Given the description of an element on the screen output the (x, y) to click on. 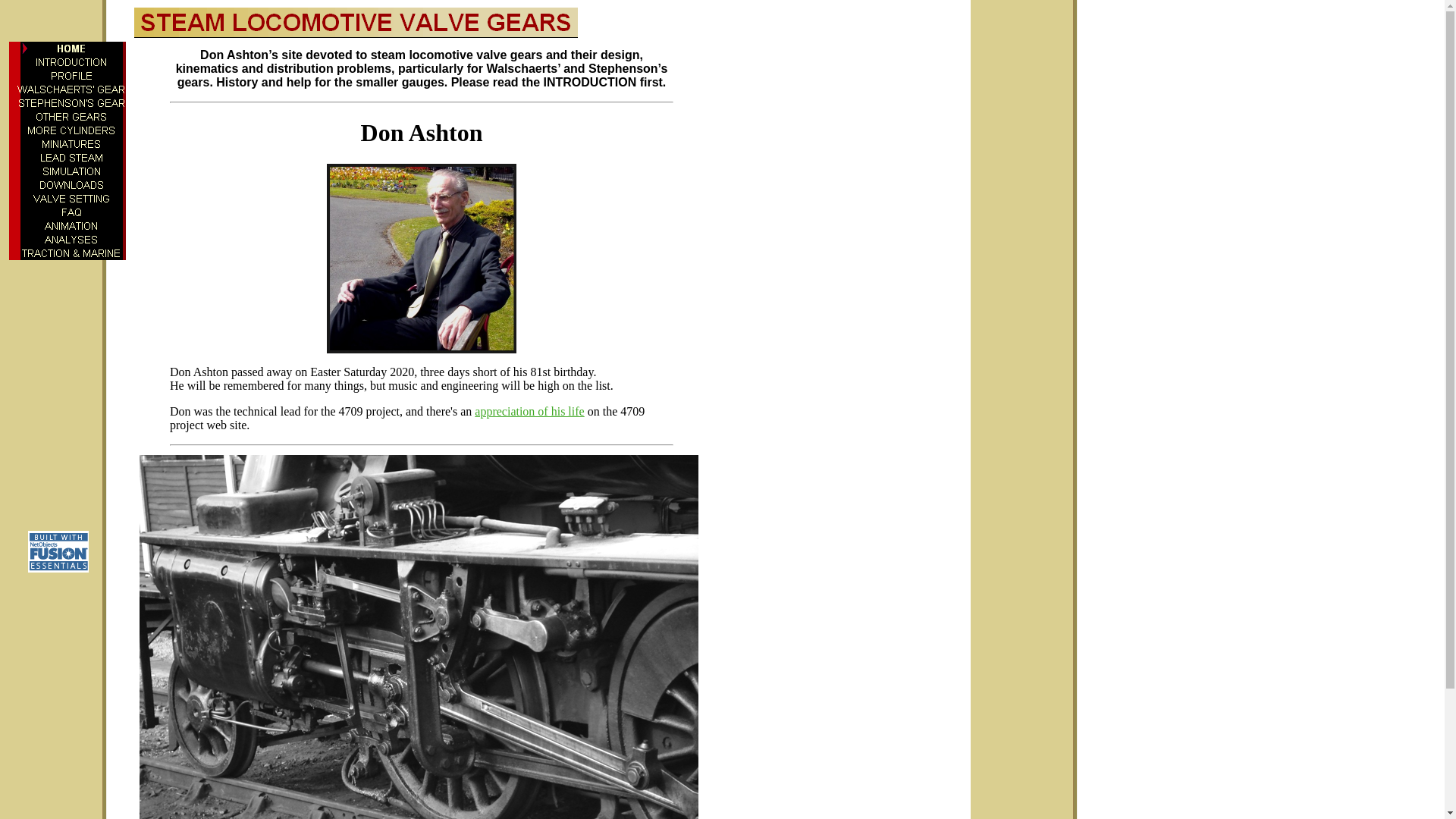
website design software (57, 551)
STEAM LOCOMOTIVE VALVE GEARS (355, 22)
website design software (57, 567)
WALSCHAERTS' GEAR (70, 89)
MINIATURES (70, 143)
VALVE SETTING (70, 198)
PROFILE (70, 75)
STEPHENSON'S GEAR (70, 102)
FAQ (70, 212)
LEAD STEAM (70, 157)
